Given the description of an element on the screen output the (x, y) to click on. 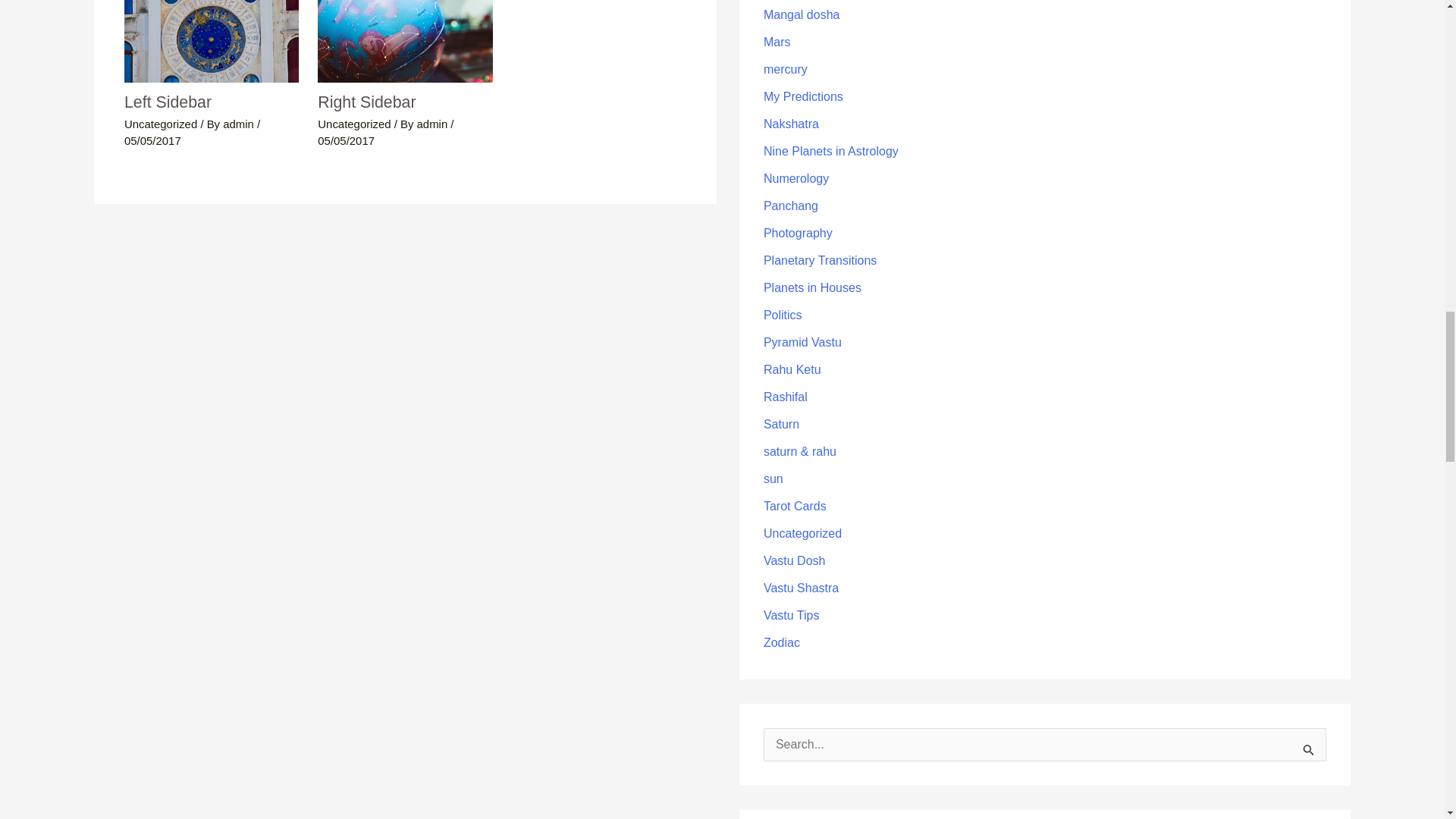
Search (1309, 749)
Right Sidebar (365, 102)
admin (239, 123)
View all posts by admin (239, 123)
Search (1309, 749)
Left Sidebar (167, 102)
Uncategorized (353, 123)
admin (433, 123)
Uncategorized (159, 123)
View all posts by admin (433, 123)
